Given the description of an element on the screen output the (x, y) to click on. 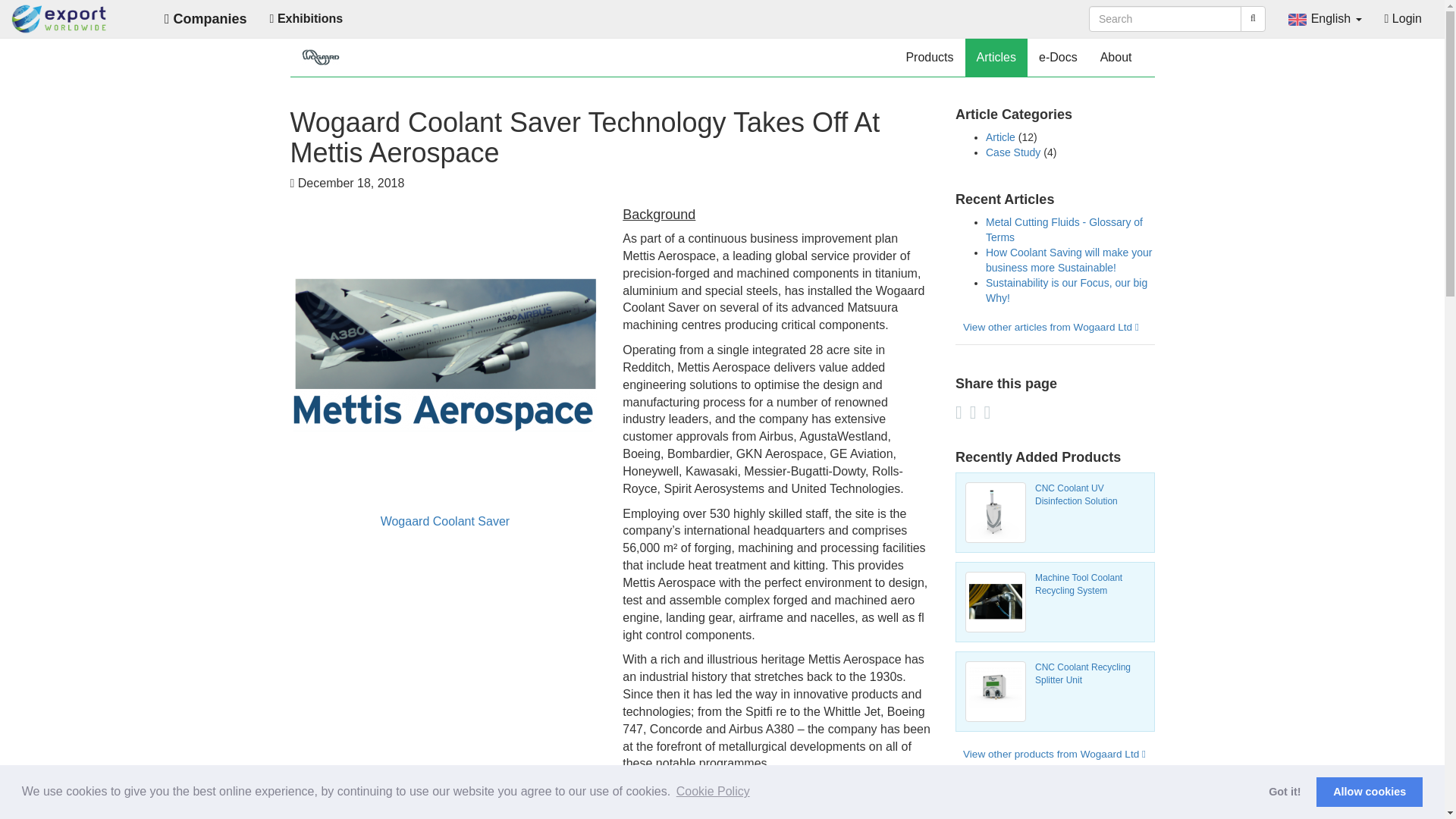
About (1115, 57)
Exhibitions (307, 18)
Article (1001, 137)
Home (59, 19)
Got it! (1285, 791)
Metal Cutting Fluids - Glossary of Terms (1063, 229)
machine-tool-coolant-recycling-system (995, 601)
wogaard-uv-beacon-cnc-coolant-uv-disinfection-solution (995, 512)
Wogaard Ltd (320, 57)
English (1324, 18)
How Coolant Saving will make your business more Sustainable! (1068, 259)
Cookie Policy (713, 791)
Login (1402, 18)
Articles (996, 57)
e-Docs (1058, 57)
